Given the description of an element on the screen output the (x, y) to click on. 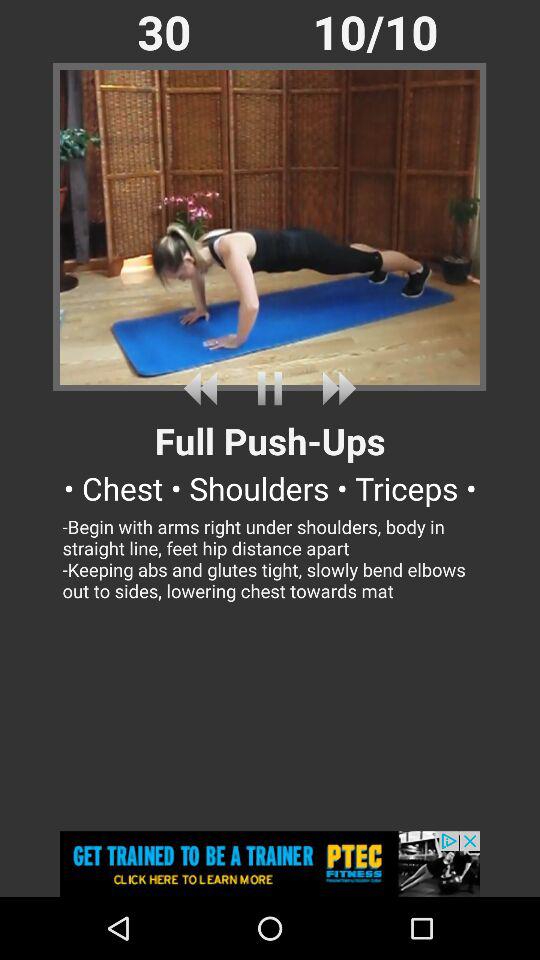
pause video (269, 388)
